Given the description of an element on the screen output the (x, y) to click on. 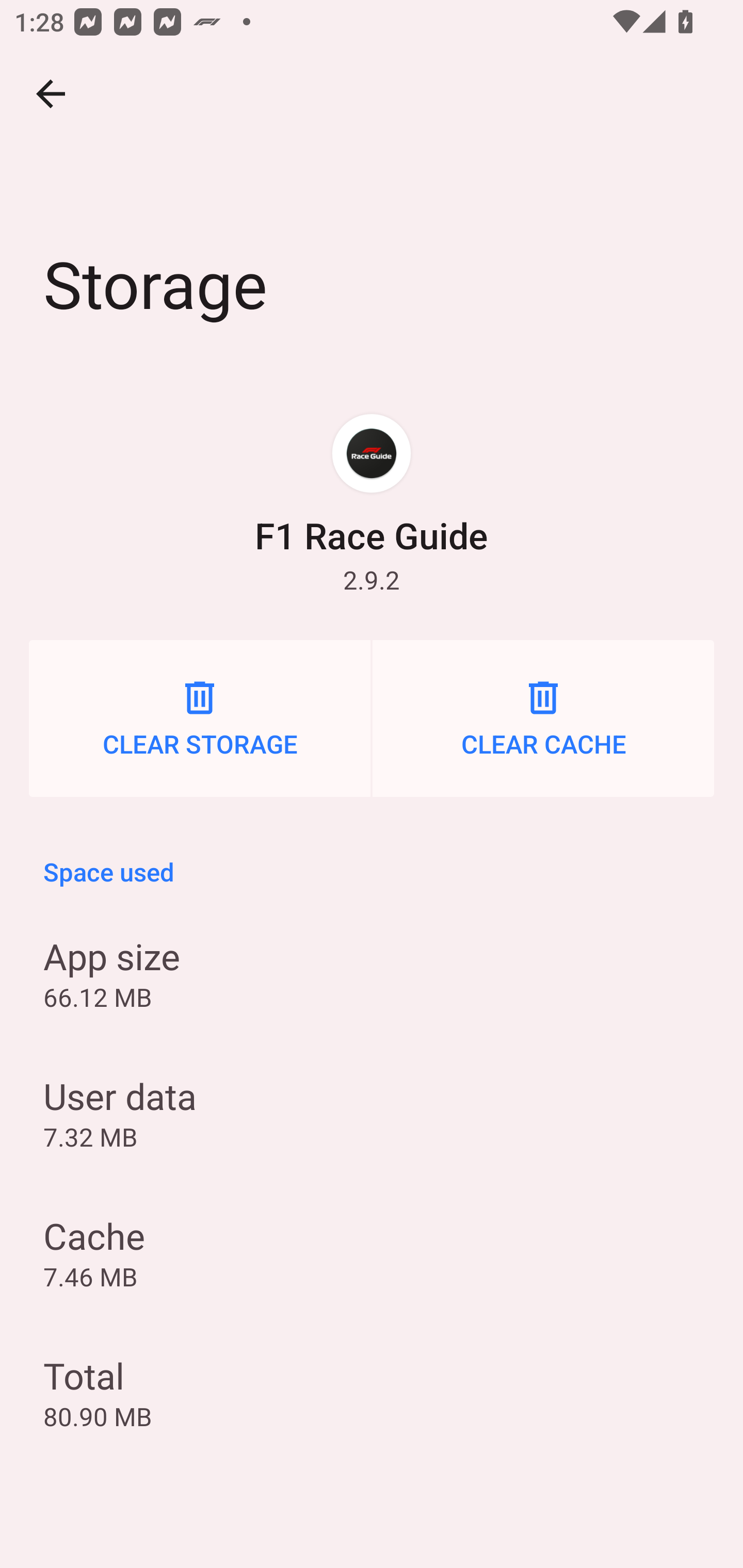
Navigate up (50, 93)
F1 Race Guide 2.9.2 (371, 503)
CLEAR STORAGE (199, 717)
CLEAR CACHE (543, 717)
